Given the description of an element on the screen output the (x, y) to click on. 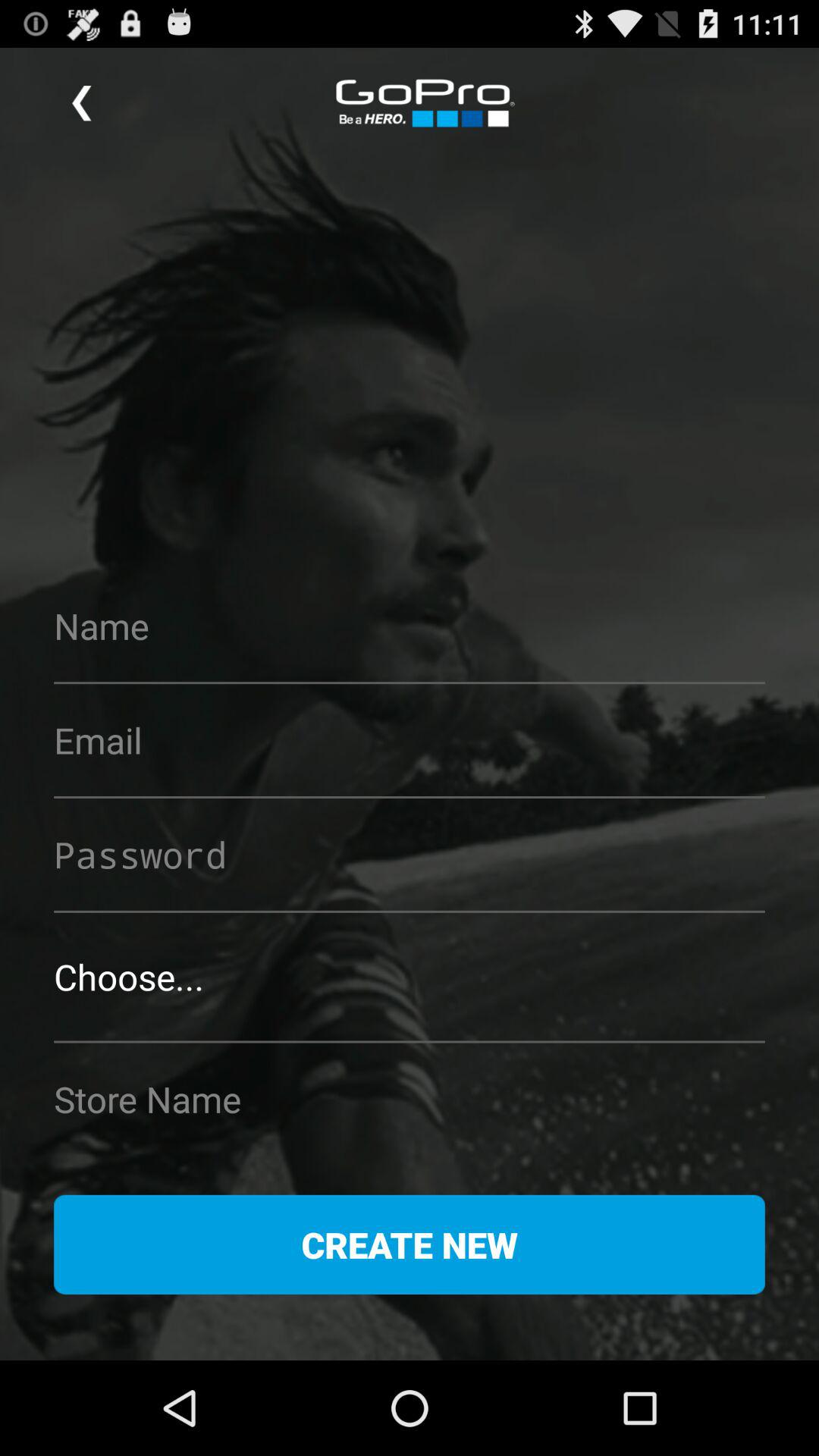
go back one page (81, 102)
